Given the description of an element on the screen output the (x, y) to click on. 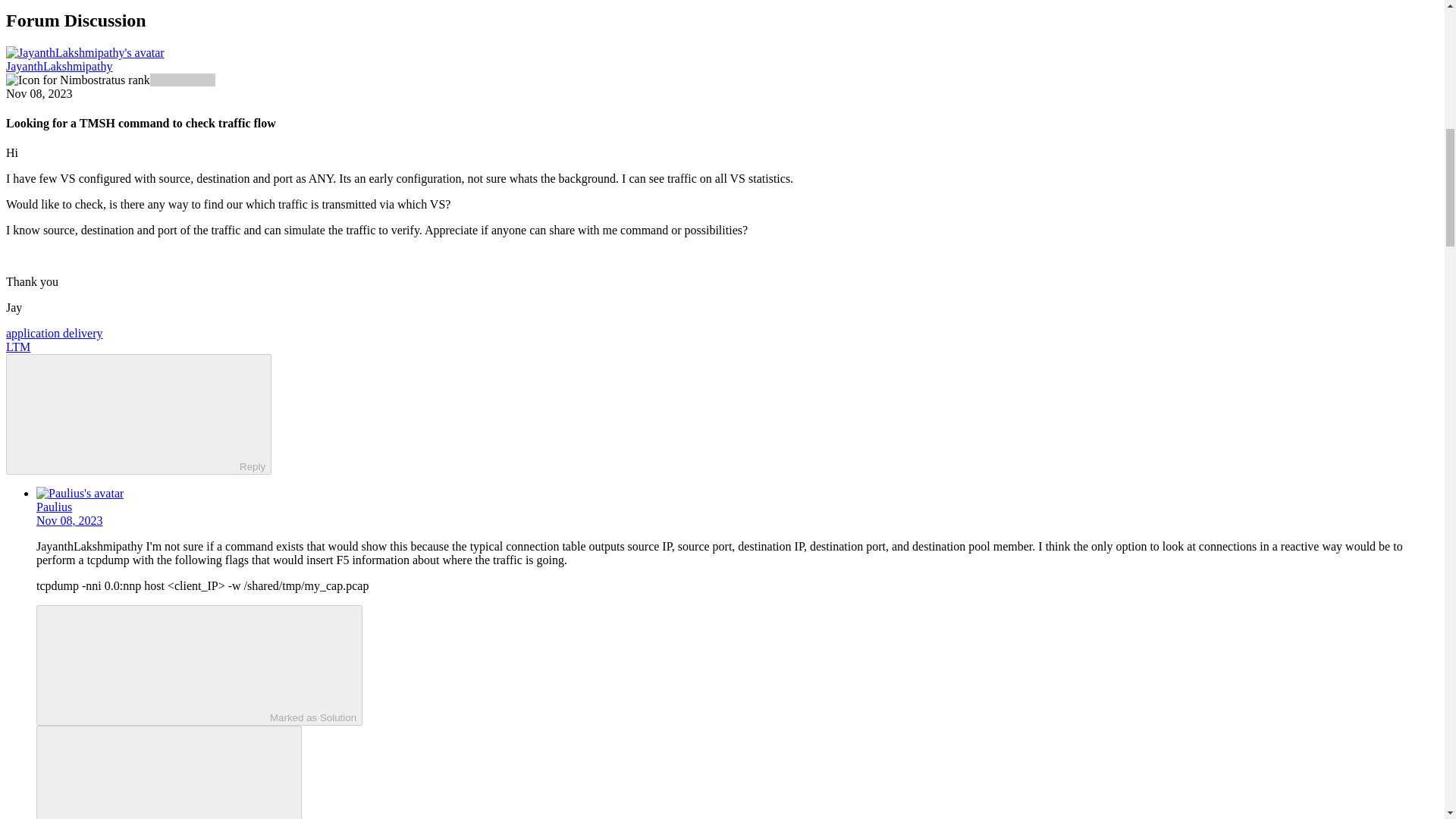
Reply (125, 413)
ReplyReply (168, 772)
JayanthLakshmipathy (58, 65)
application delivery (54, 332)
November 8, 2023 at 5:38 AM (69, 520)
LTM (17, 346)
ReplyReply (137, 414)
Nov 08, 2023 (69, 520)
November 8, 2023 at 4:34 AM (38, 92)
Marked as Solution (199, 665)
Paulius (53, 506)
JayanthLakshmipathy (89, 545)
Reply (155, 773)
